Given the description of an element on the screen output the (x, y) to click on. 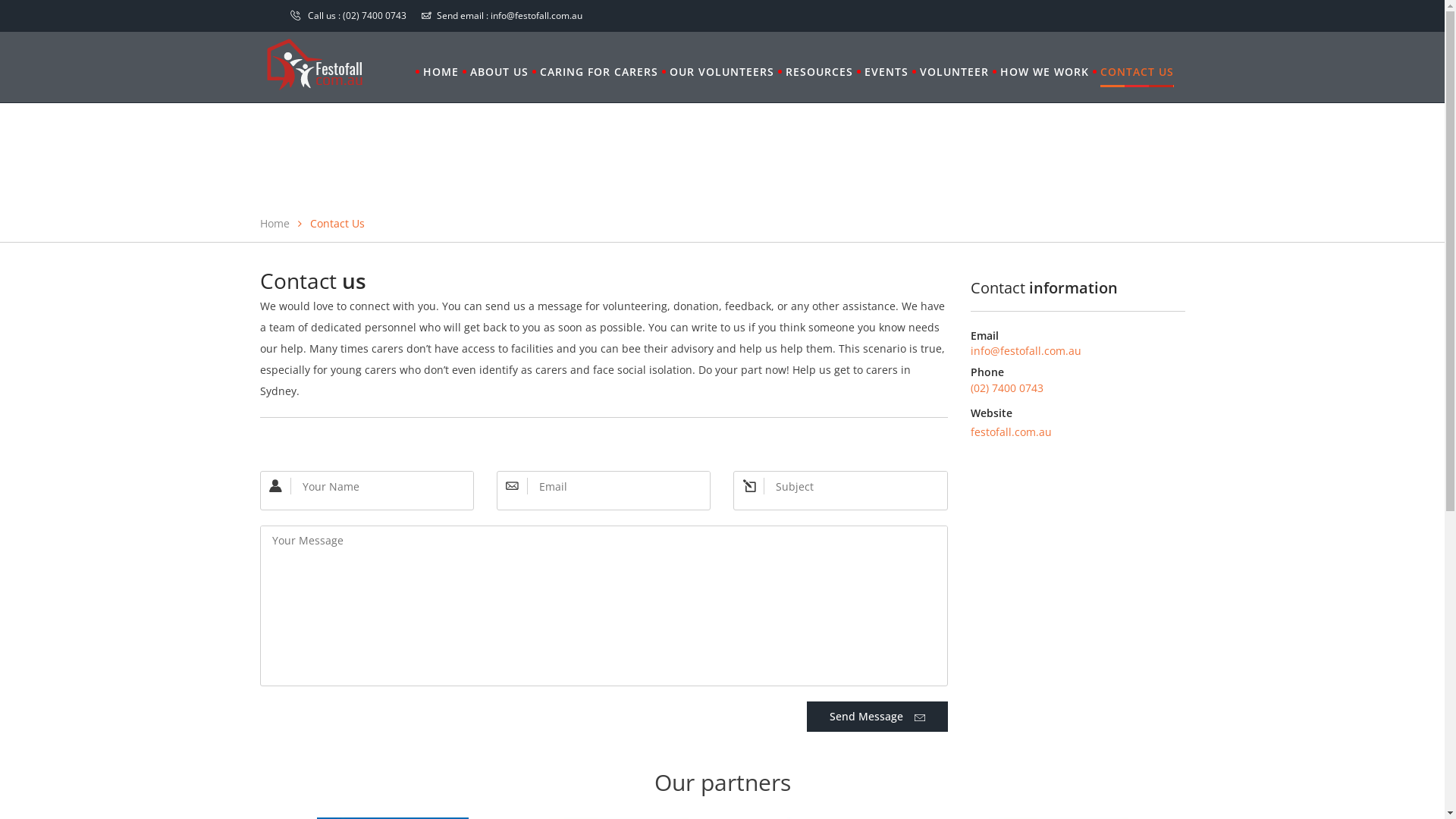
HOME Element type: text (440, 71)
CONTACT US Element type: text (1136, 71)
HOW WE WORK Element type: text (1043, 71)
(02) 7400 0743 Element type: text (374, 15)
festofall.com.au Element type: text (1010, 431)
VOLUNTEER Element type: text (953, 71)
Contact Us Element type: text (336, 223)
ABOUT US Element type: text (499, 71)
OUR VOLUNTEERS Element type: text (720, 71)
RESOURCES Element type: text (819, 71)
EVENTS Element type: text (886, 71)
CARING FOR CARERS Element type: text (598, 71)
(02) 7400 0743 Element type: text (1006, 387)
info@festofall.com.au Element type: text (1025, 350)
Send Message Element type: text (876, 716)
info@festofall.com.au Element type: text (535, 15)
